Given the description of an element on the screen output the (x, y) to click on. 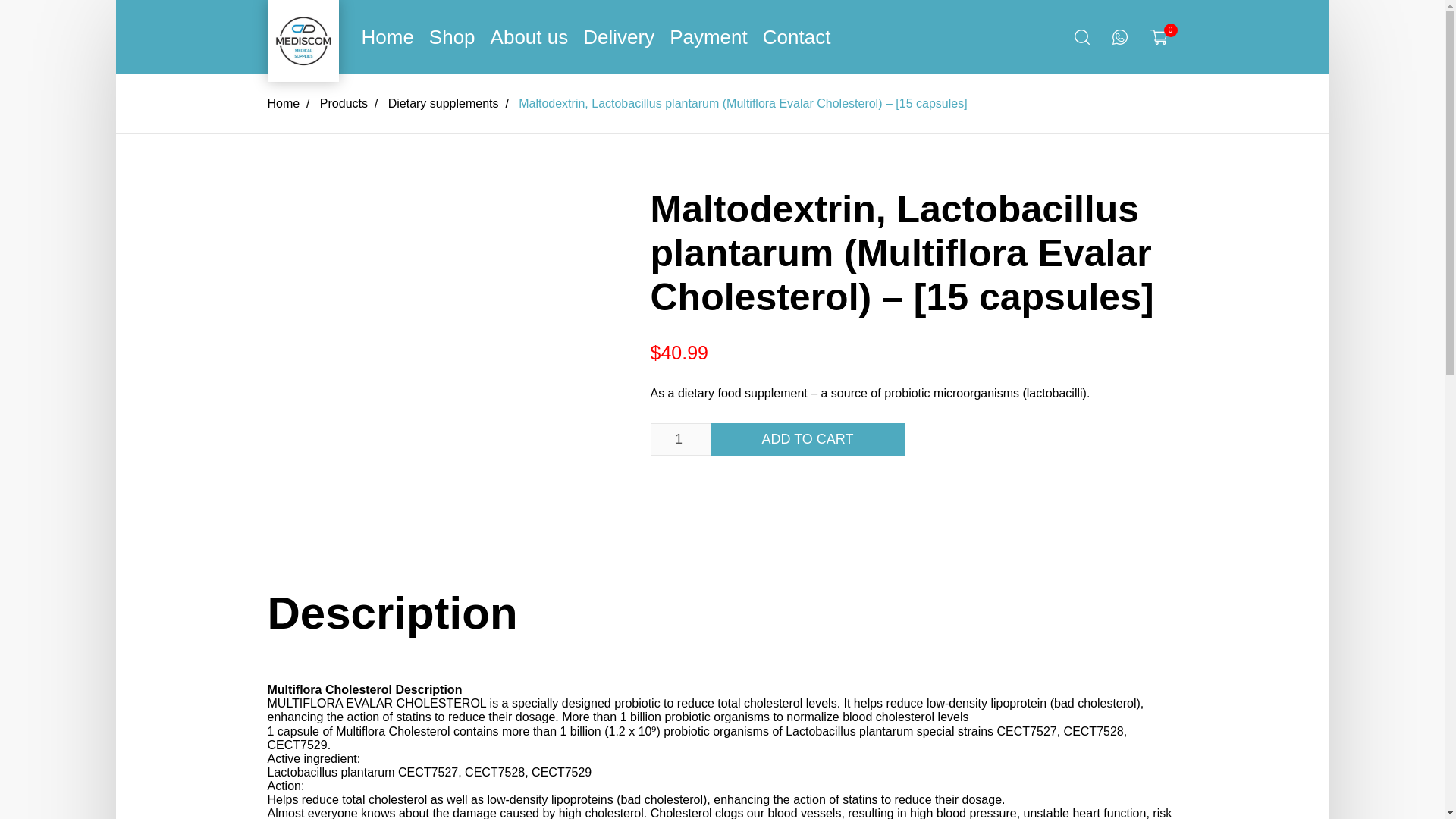
Go to the Dietary supplements Category archives. (443, 103)
Products (344, 103)
Home (387, 36)
Delivery (618, 36)
Home (282, 103)
Shop (452, 36)
Go to Products. (344, 103)
1 (680, 439)
ADD TO CART (807, 439)
0 (1163, 37)
Contact (796, 36)
About us (529, 36)
Go to Mediscom.com.co. (282, 103)
Dietary supplements (443, 103)
Payment (708, 36)
